Given the description of an element on the screen output the (x, y) to click on. 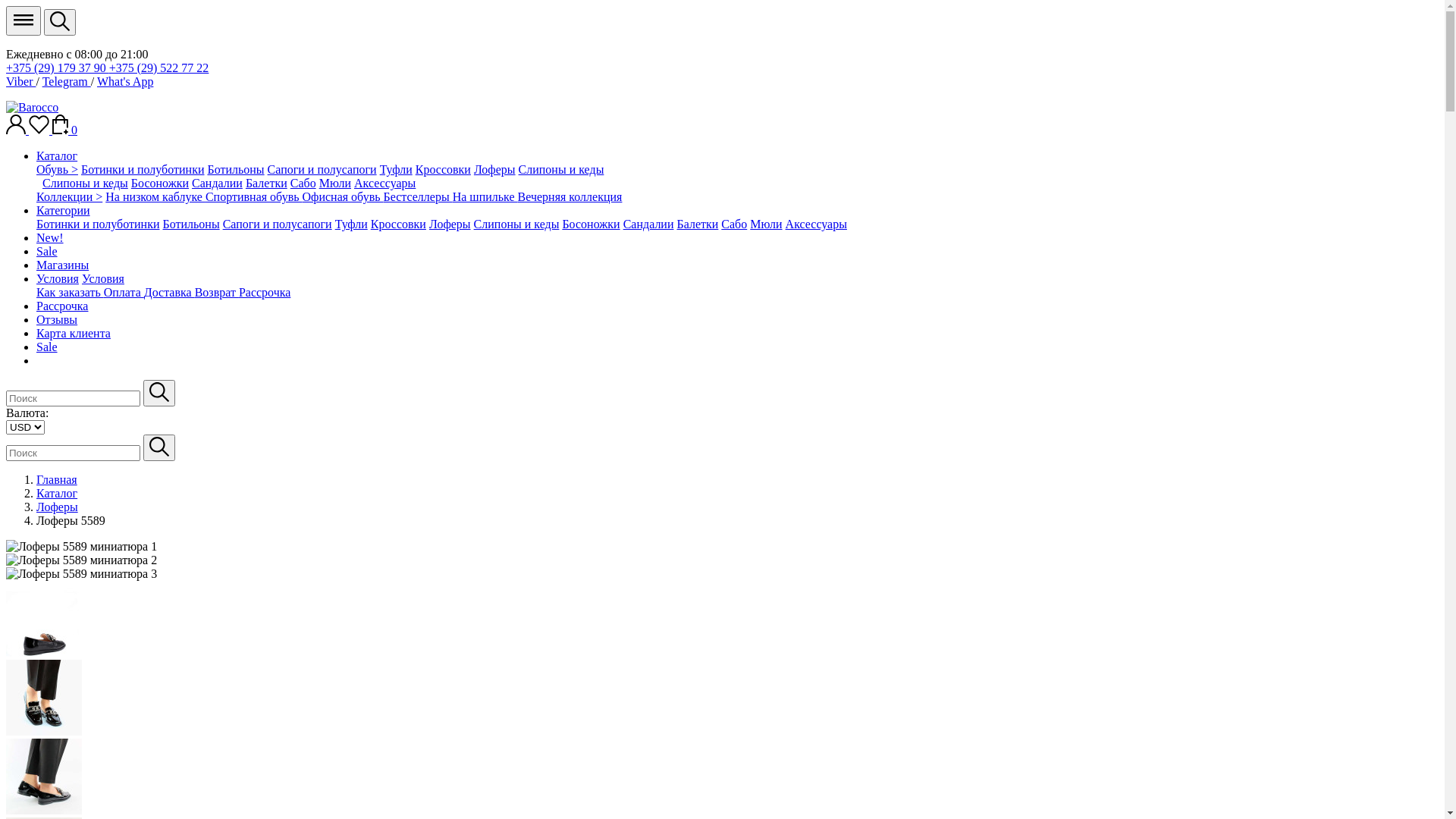
What's App Element type: text (125, 81)
0 Element type: text (64, 129)
Sale Element type: text (46, 250)
Sale Element type: text (46, 346)
New! Element type: text (49, 237)
Telegram Element type: text (66, 81)
+375 (29) 522 77 22 Element type: text (159, 67)
+375 (29) 179 37 90 Element type: text (57, 67)
  Element type: text (37, 182)
Viber Element type: text (20, 81)
